Given the description of an element on the screen output the (x, y) to click on. 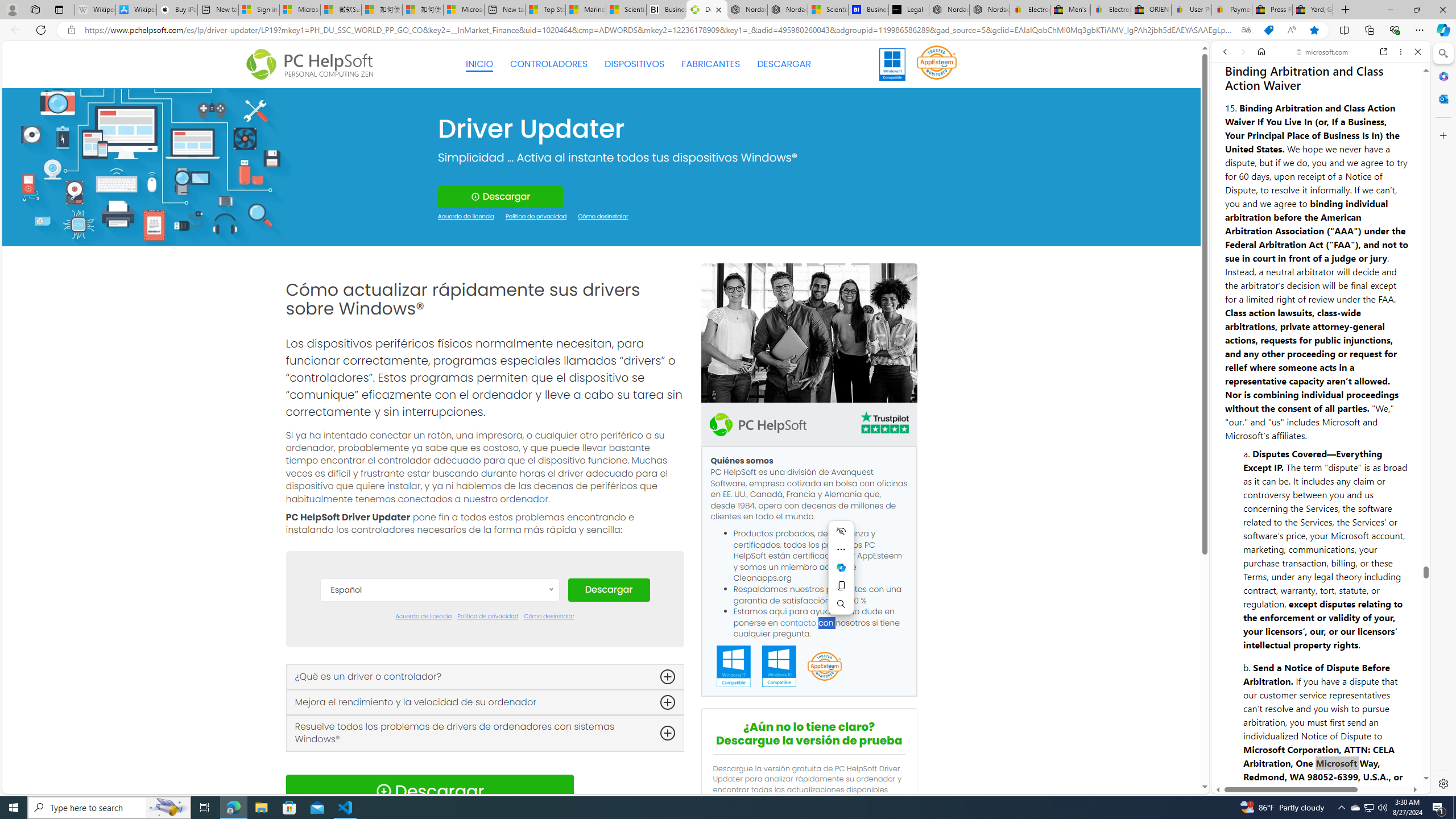
Electronics, Cars, Fashion, Collectibles & More | eBay (1110, 9)
Yard, Garden & Outdoor Living (1312, 9)
Acuerdo de licencia (423, 615)
App Esteem (823, 666)
DESCARGAR (783, 64)
FABRICANTES (711, 64)
Web scope (1230, 102)
DESCARGAR (783, 64)
Generic (150, 166)
Customize (1442, 135)
Microsoft Services Agreement (299, 9)
INICIO (479, 64)
Marine life - MSN (585, 9)
Nordace - Summer Adventures 2024 (949, 9)
